Given the description of an element on the screen output the (x, y) to click on. 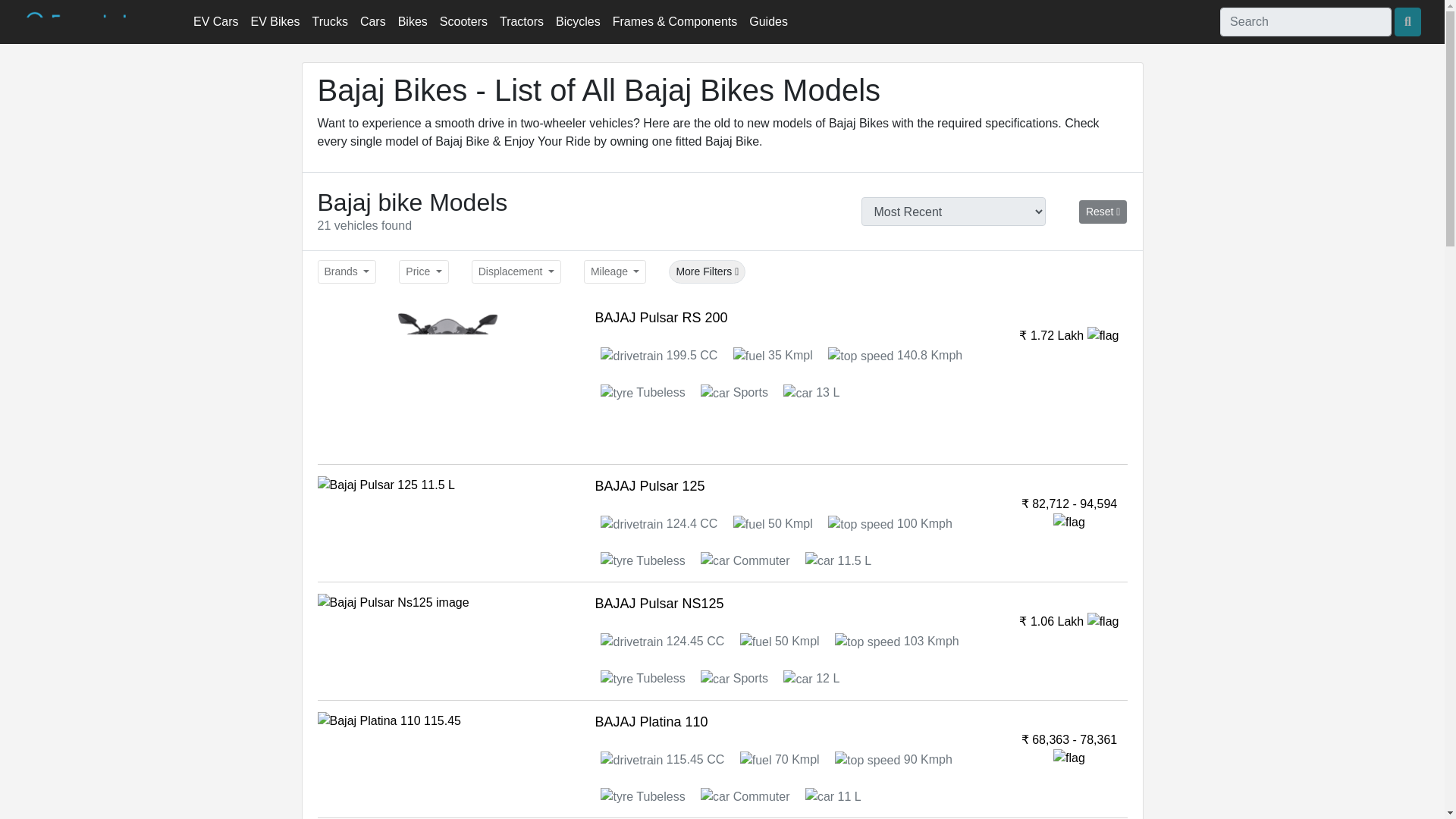
Cars (372, 21)
body type (837, 560)
drivetrain (661, 640)
trim (890, 522)
fuel type (772, 522)
drivetrain (658, 354)
fuel type (772, 354)
fuel type (779, 640)
fuel type (779, 758)
Tractors (521, 21)
